Given the description of an element on the screen output the (x, y) to click on. 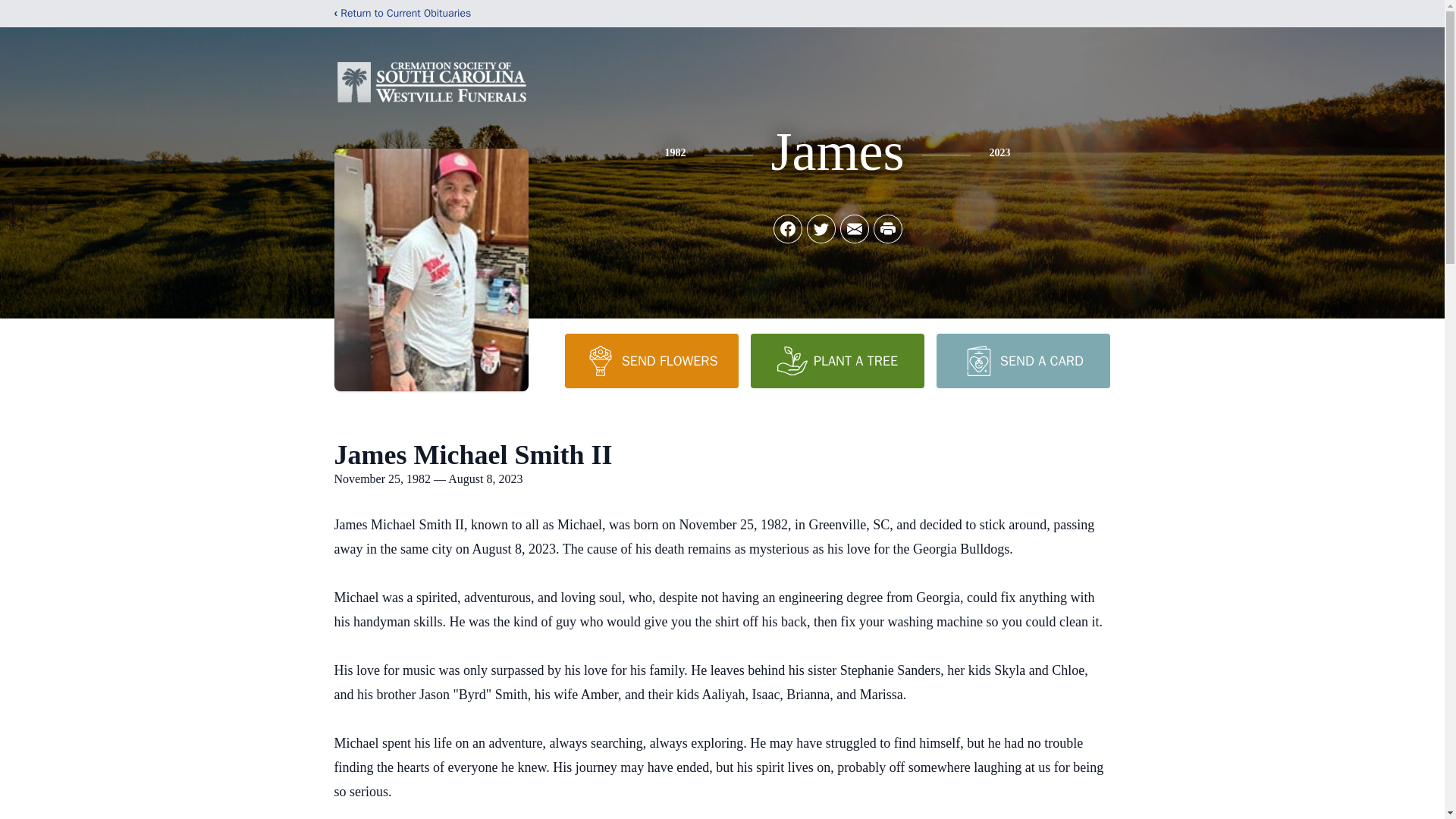
SEND A CARD (1022, 360)
SEND FLOWERS (651, 360)
PLANT A TREE (837, 360)
